Given the description of an element on the screen output the (x, y) to click on. 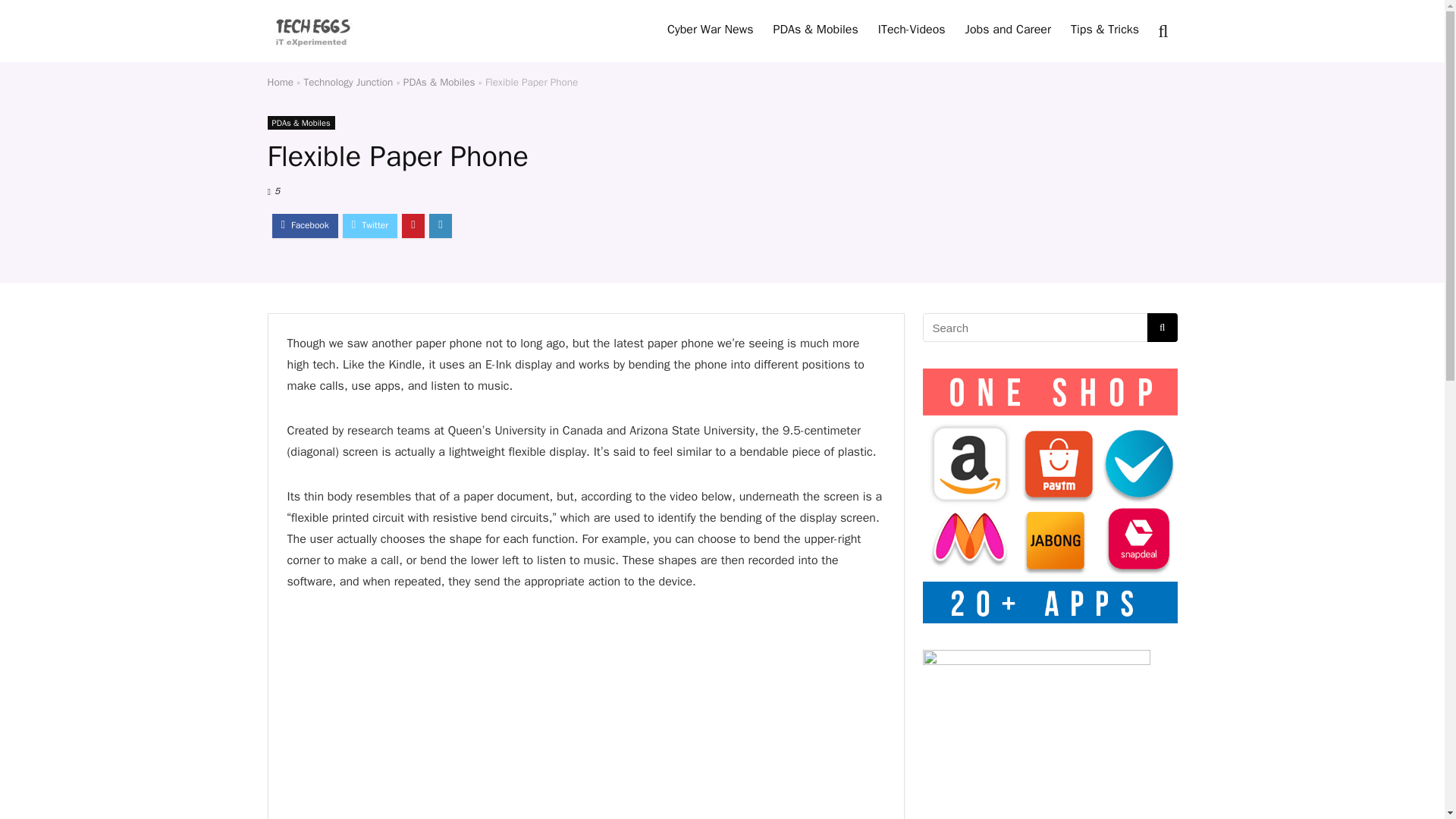
Cyber War News (710, 30)
Technology Junction (348, 82)
ITech-Videos (911, 30)
Home (280, 82)
Jobs and Career (1008, 30)
